Given the description of an element on the screen output the (x, y) to click on. 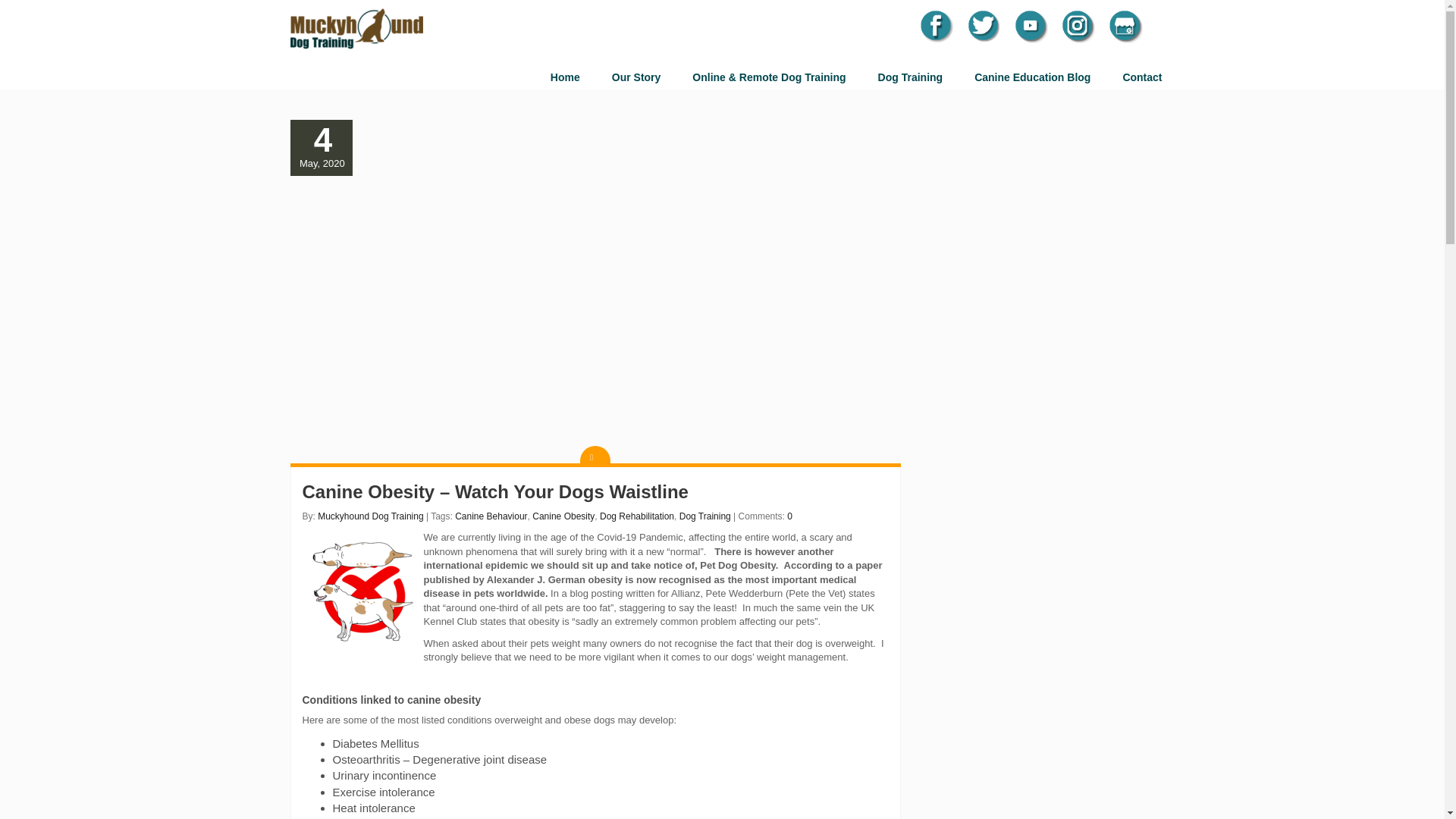
Canine Behaviour (490, 516)
Muckyhound Dog Training (370, 516)
Dog Training (704, 516)
Our Story (636, 77)
Home (565, 77)
Dog Rehabilitation (636, 516)
Canine Education Blog (1032, 77)
Contact (1141, 77)
Canine Obesity (563, 516)
Posts by Muckyhound Dog Training (370, 516)
Dog Training (910, 77)
